Given the description of an element on the screen output the (x, y) to click on. 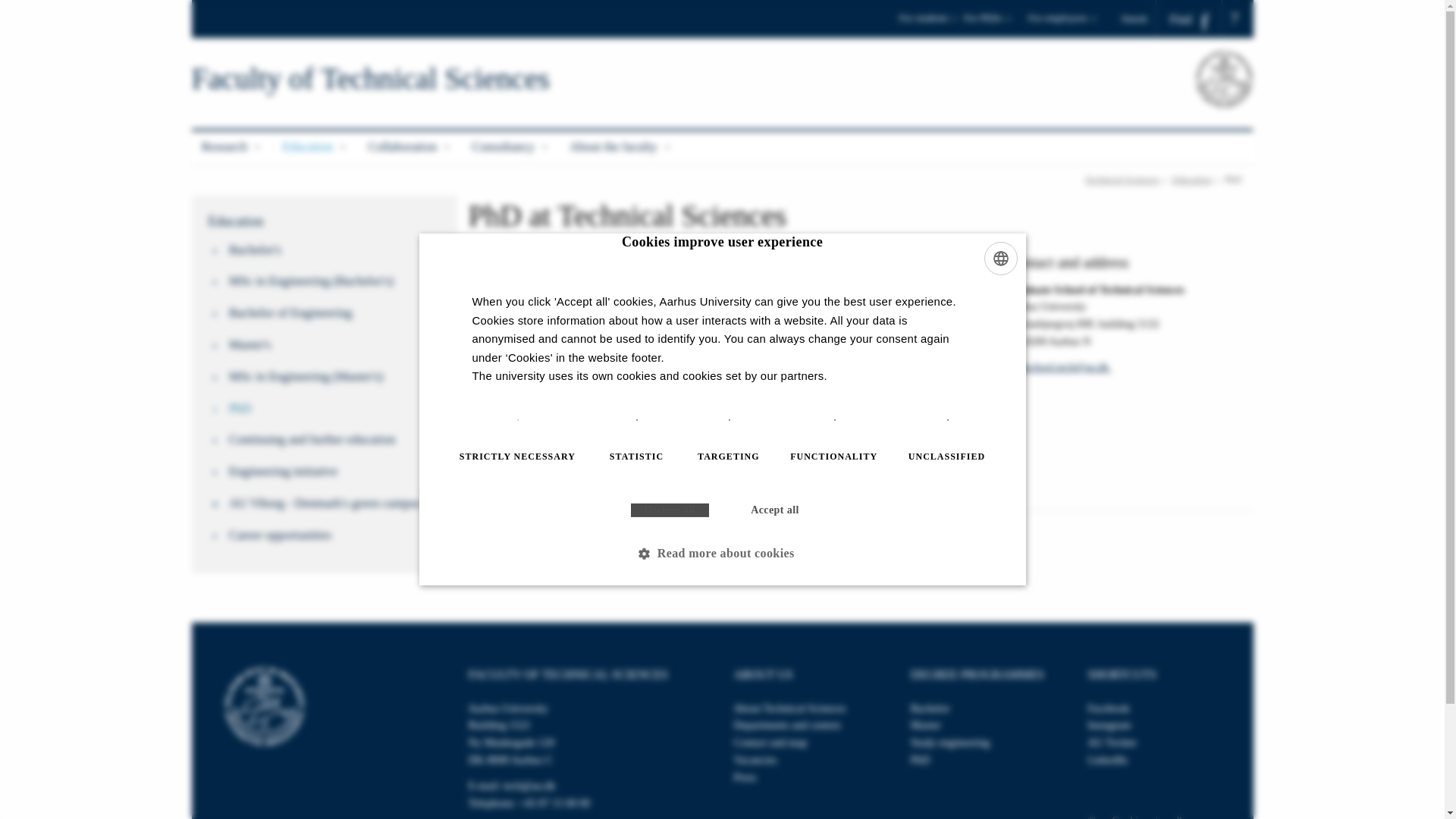
Collaboration (409, 147)
For employees (1061, 22)
Research (231, 147)
Type search criteria (1235, 19)
For students (927, 22)
Dansk (1139, 18)
Find (1189, 19)
Faculty of Technical Sciences (369, 78)
Search (17, 5)
For PhDs (992, 22)
Dansk (1139, 18)
Education (315, 147)
